Given the description of an element on the screen output the (x, y) to click on. 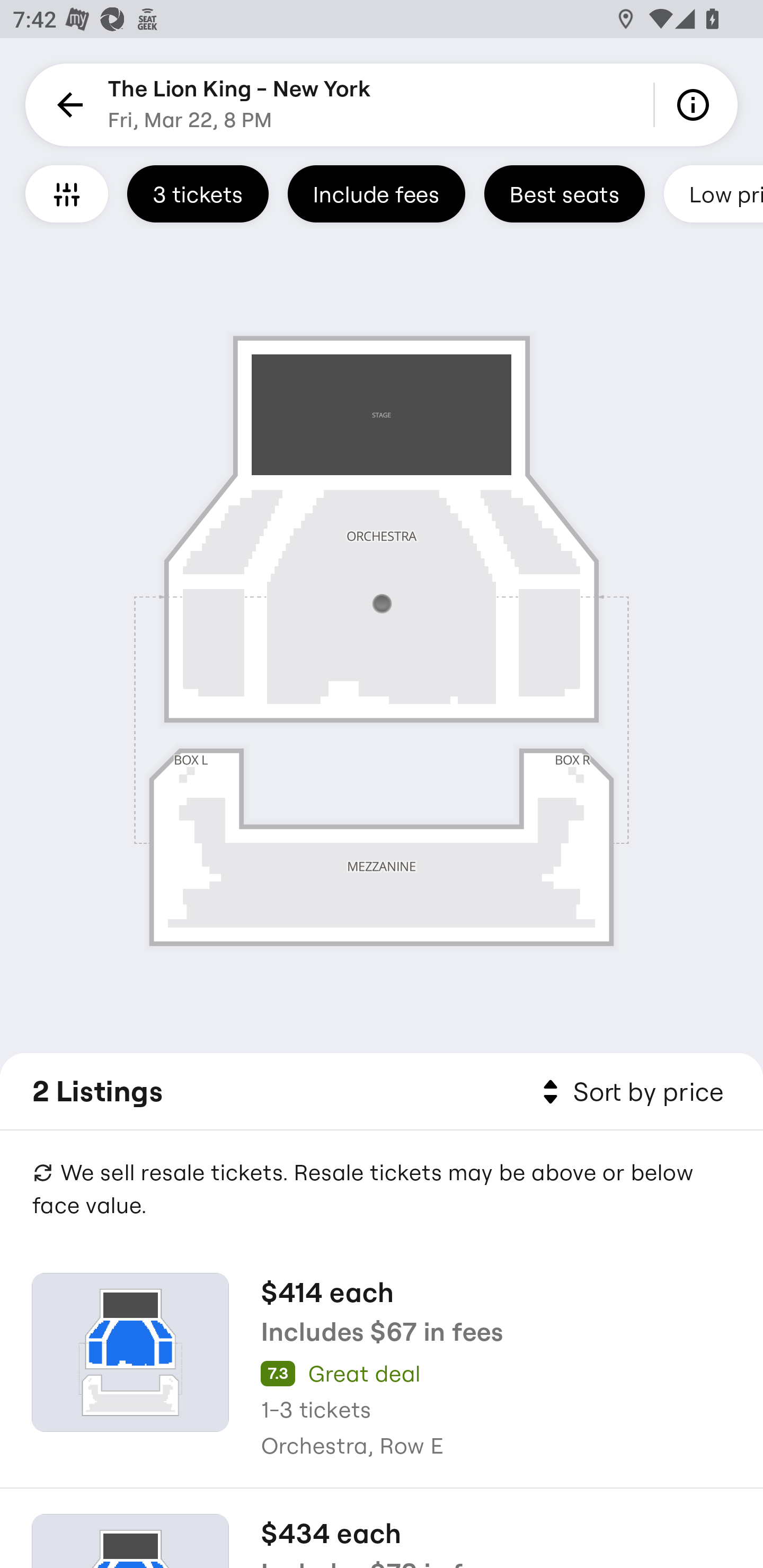
Back (66, 104)
The Lion King - New York Fri, Mar 22, 8 PM (239, 104)
Info (695, 104)
Filters and Accessible Seating (66, 193)
3 tickets (197, 193)
Include fees (376, 193)
Best seats (564, 193)
Low prices (713, 193)
Sort by price (629, 1091)
